Given the description of an element on the screen output the (x, y) to click on. 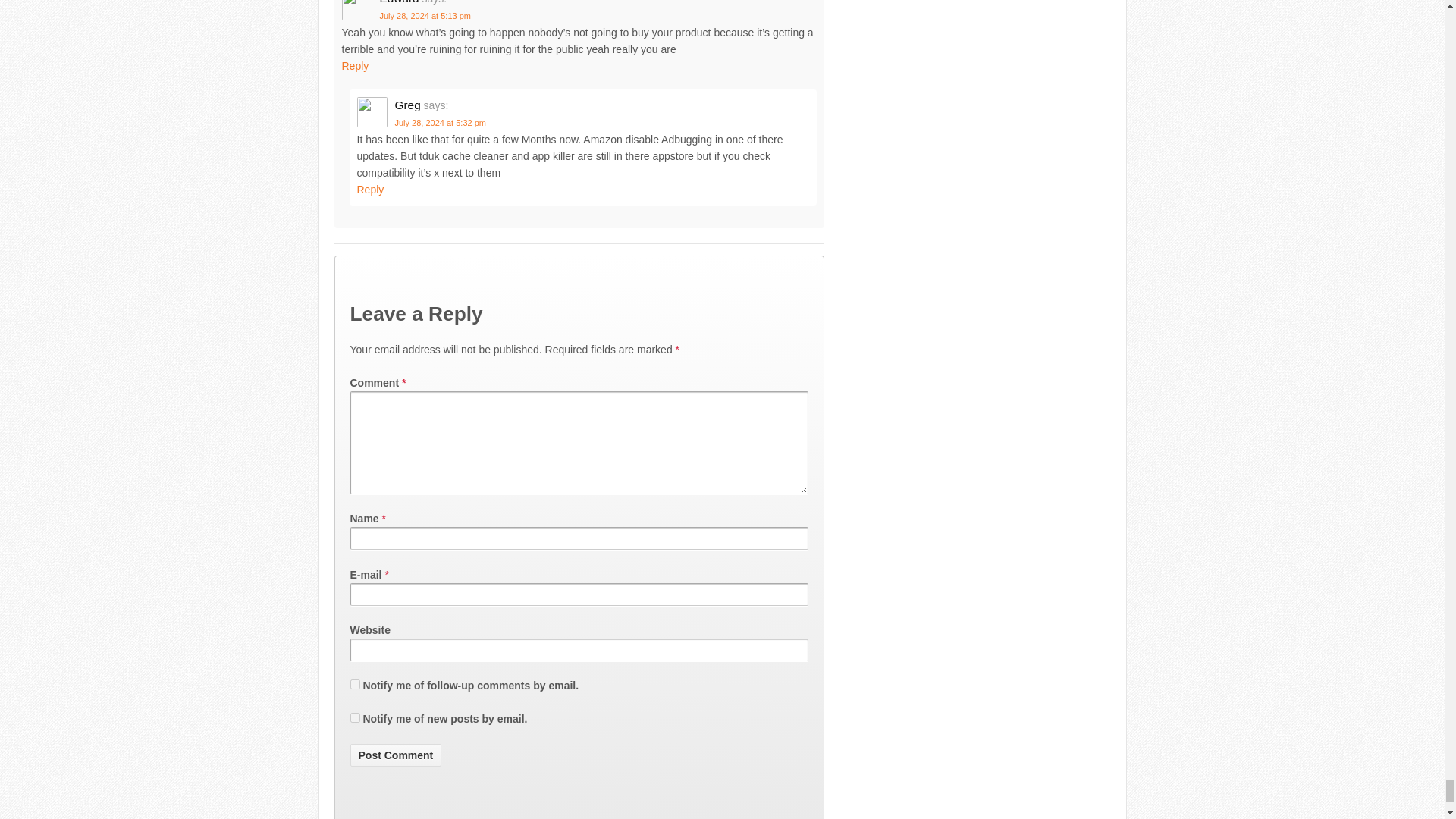
subscribe (354, 684)
subscribe (354, 717)
Post Comment (396, 754)
